Given the description of an element on the screen output the (x, y) to click on. 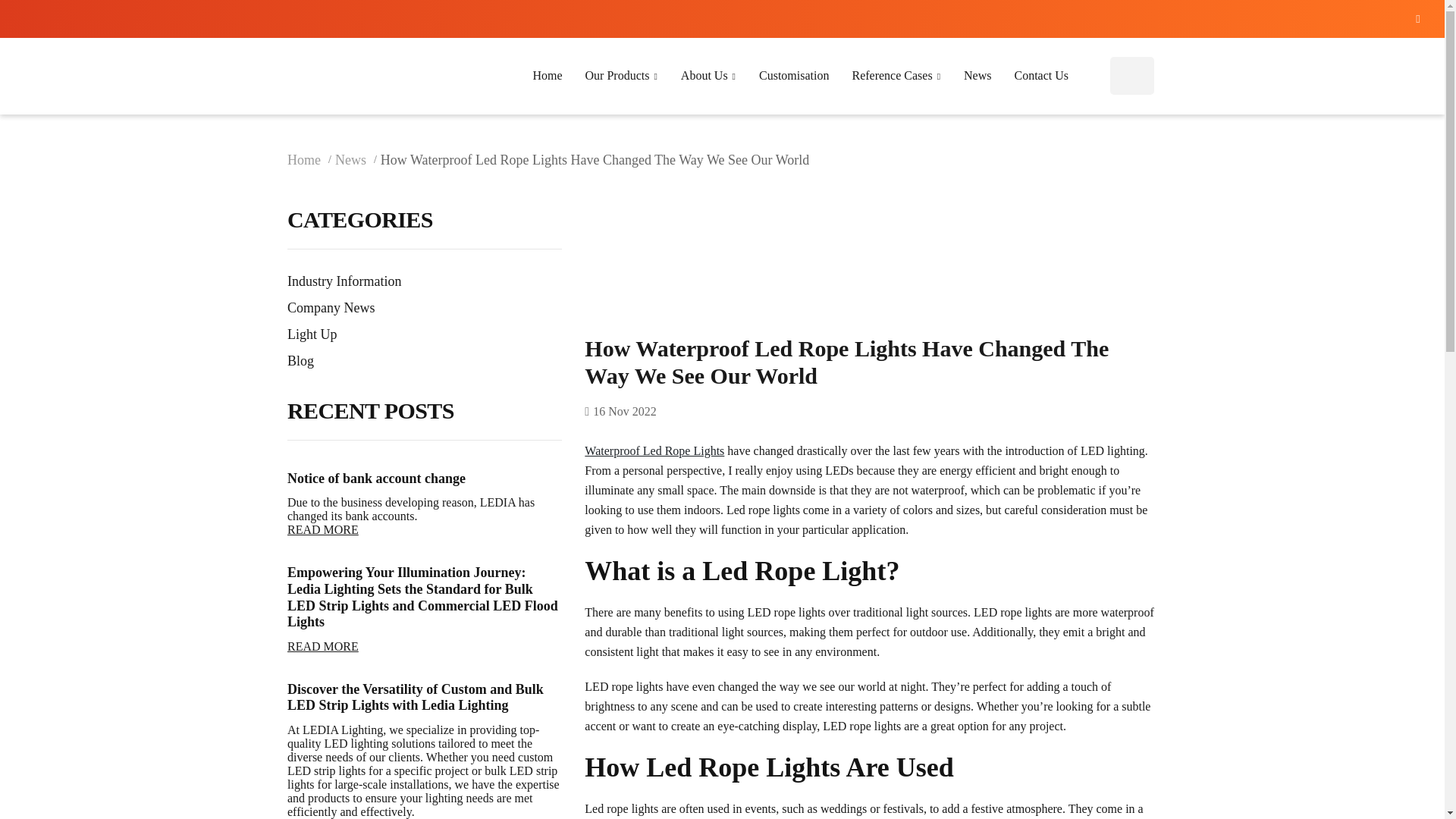
Waterproof Led Rope Lights (654, 450)
Home (310, 159)
Industry Information (424, 281)
Our Products (621, 75)
Blog (424, 361)
News (357, 159)
Reference Cases (895, 75)
Company News (424, 307)
